Given the description of an element on the screen output the (x, y) to click on. 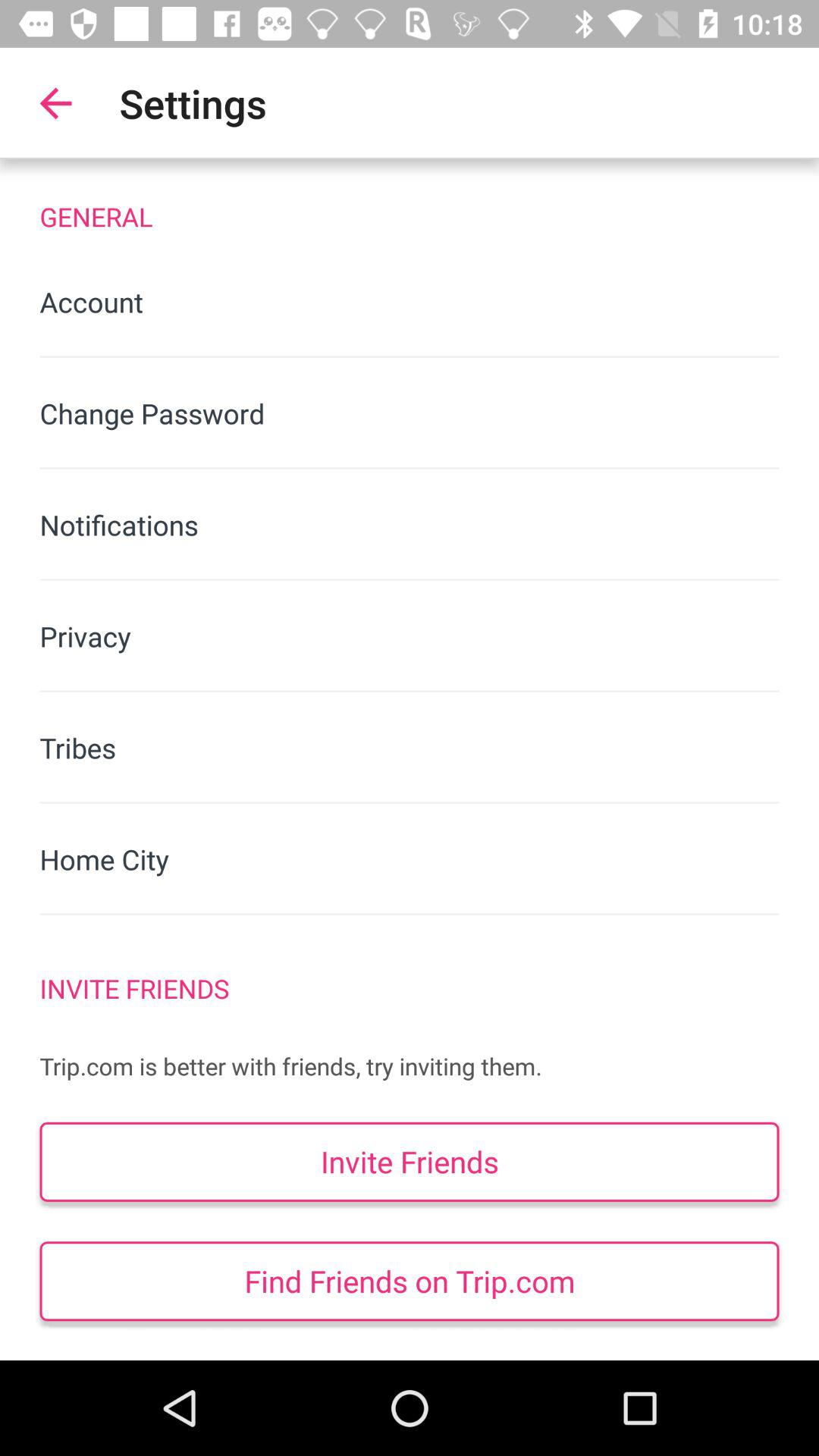
jump until privacy (409, 636)
